Given the description of an element on the screen output the (x, y) to click on. 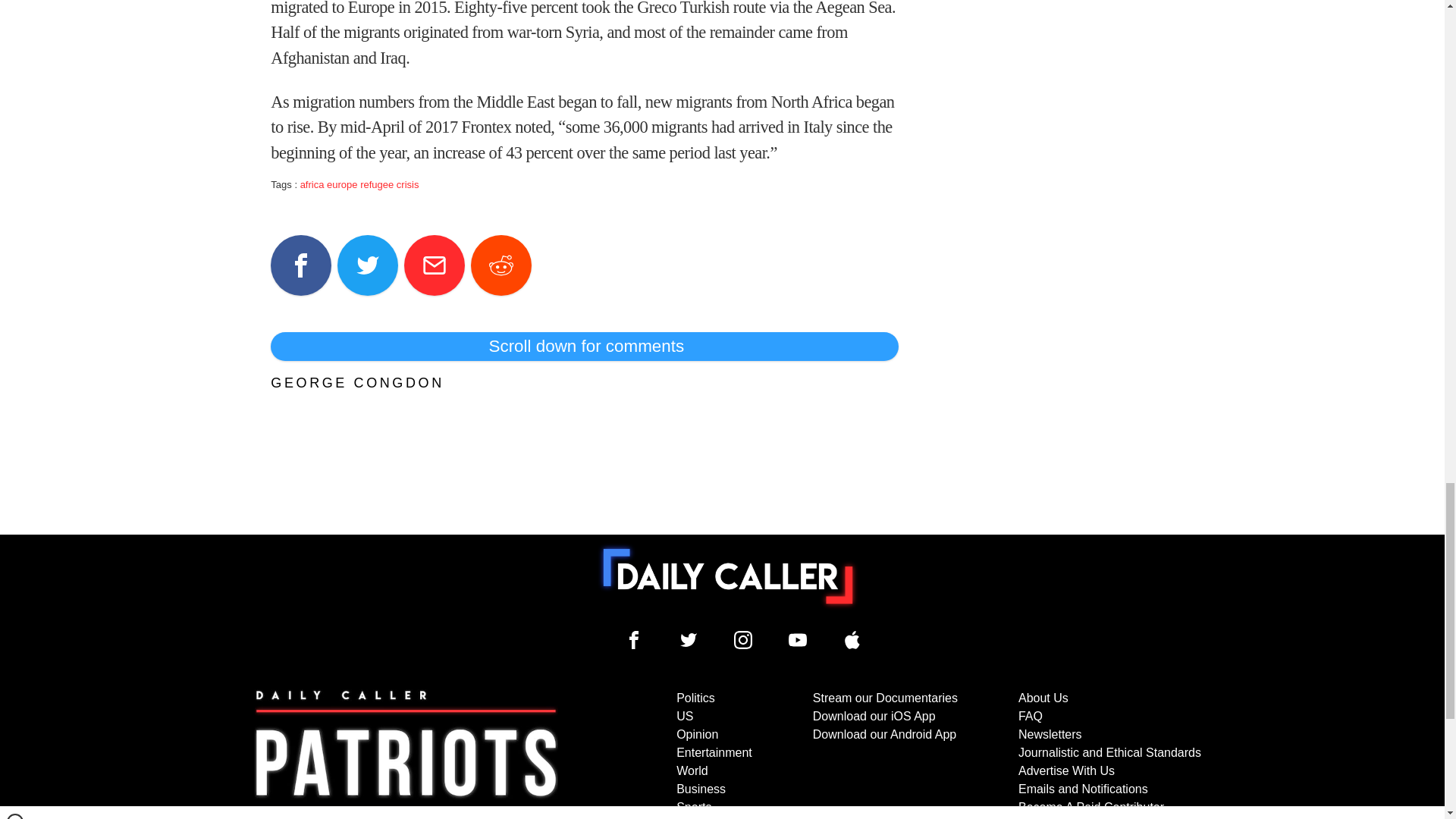
Daily Caller Twitter (688, 639)
Daily Caller Facebook (633, 639)
Daily Caller Instagram (742, 639)
To home page (727, 575)
Subscribe to The Daily Caller (405, 754)
Daily Caller YouTube (797, 639)
Daily Caller YouTube (852, 639)
Scroll down for comments (584, 346)
